Given the description of an element on the screen output the (x, y) to click on. 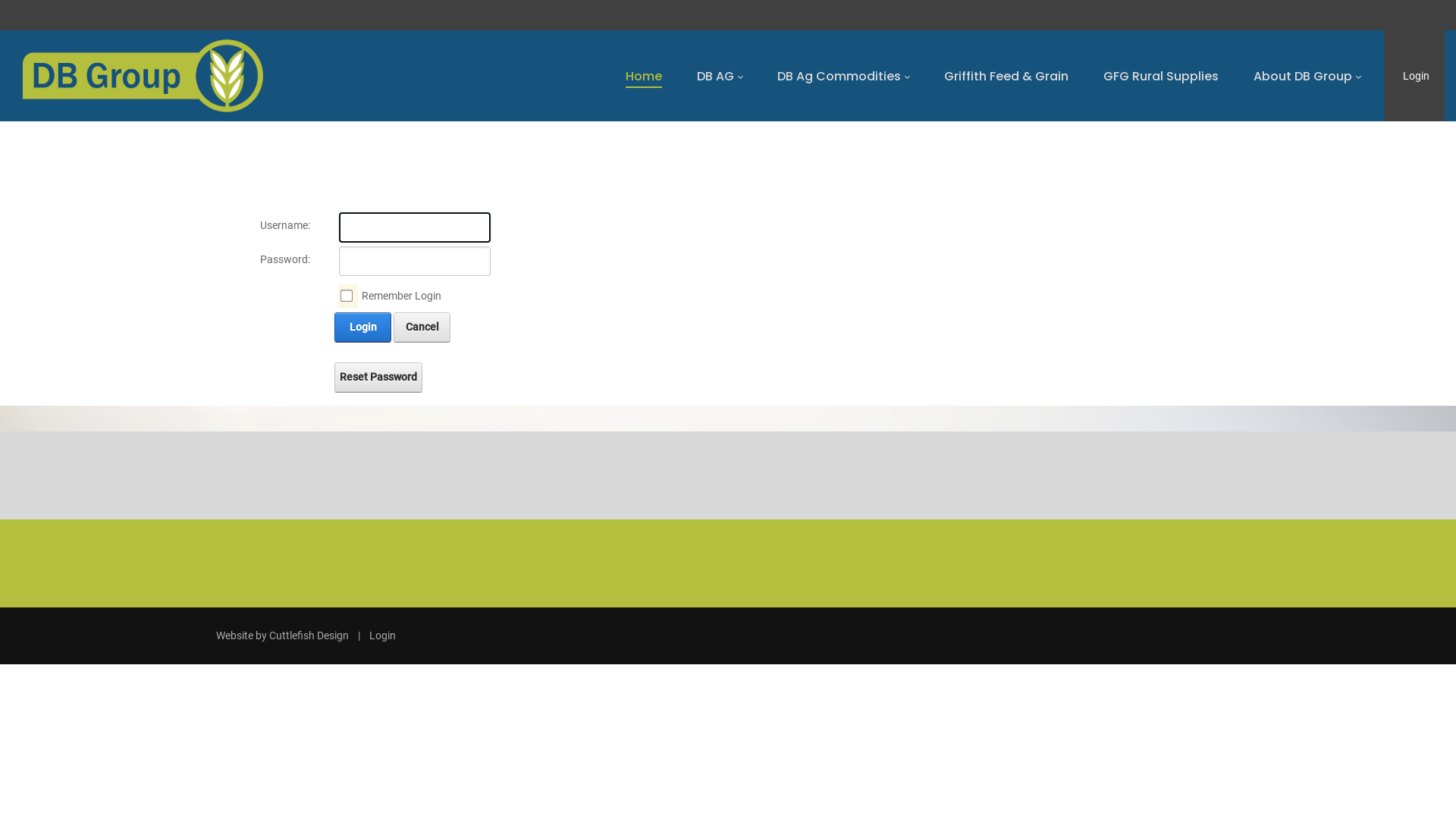
Login Element type: text (1415, 75)
GFG Rural Supplies Element type: text (1160, 75)
Home Element type: text (643, 75)
About DB Group Element type: text (1306, 75)
Login Element type: text (382, 635)
DB Group Element type: hover (142, 75)
Reset Password Element type: text (378, 377)
Cancel Element type: text (421, 327)
Cuttlefish Design Element type: text (308, 635)
Login Element type: text (362, 327)
DB AG Element type: text (719, 75)
Griffith Feed & Grain Element type: text (1005, 75)
DB Ag Commodities Element type: text (842, 75)
